Given the description of an element on the screen output the (x, y) to click on. 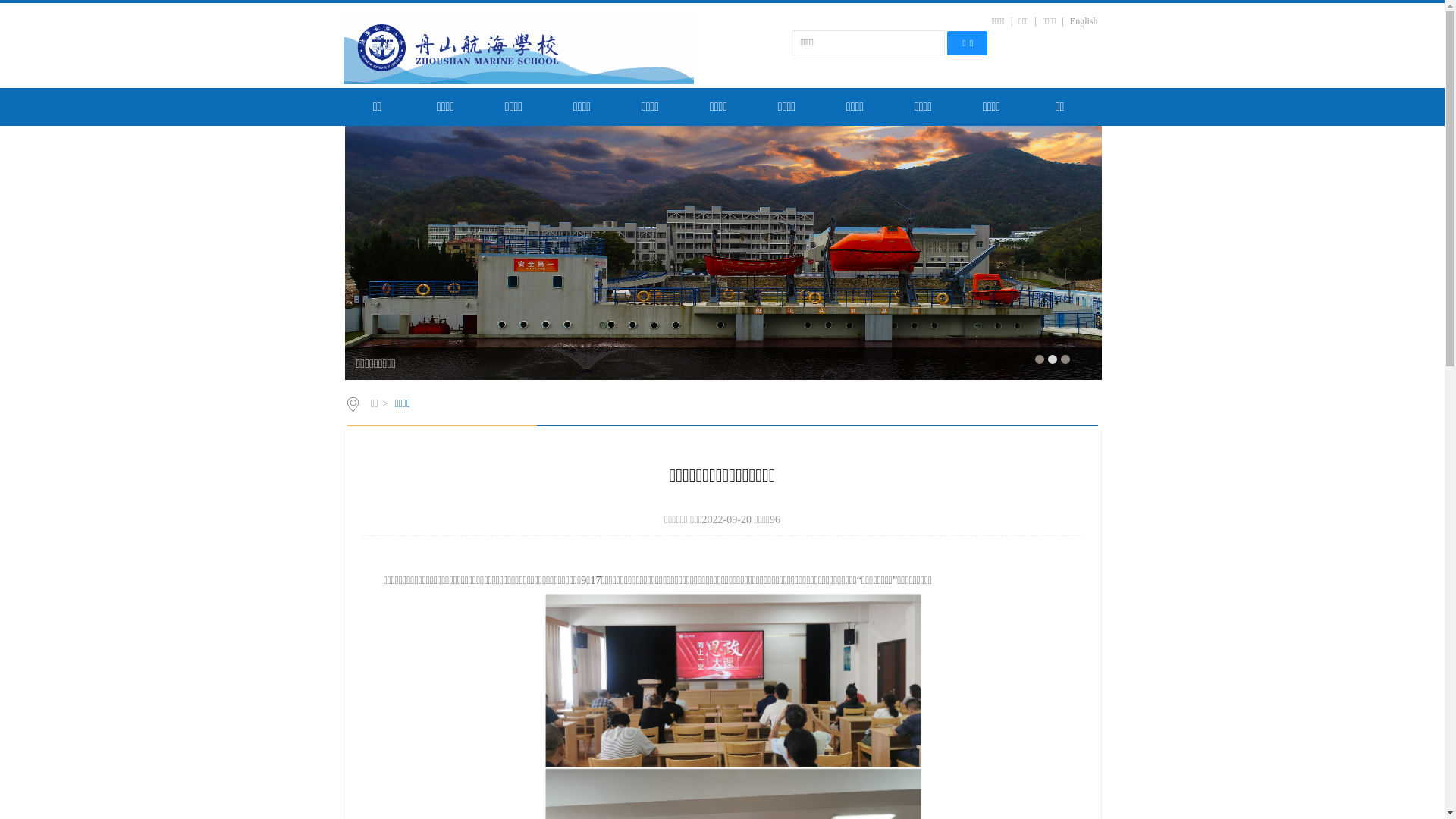
English Element type: text (1083, 20)
